Given the description of an element on the screen output the (x, y) to click on. 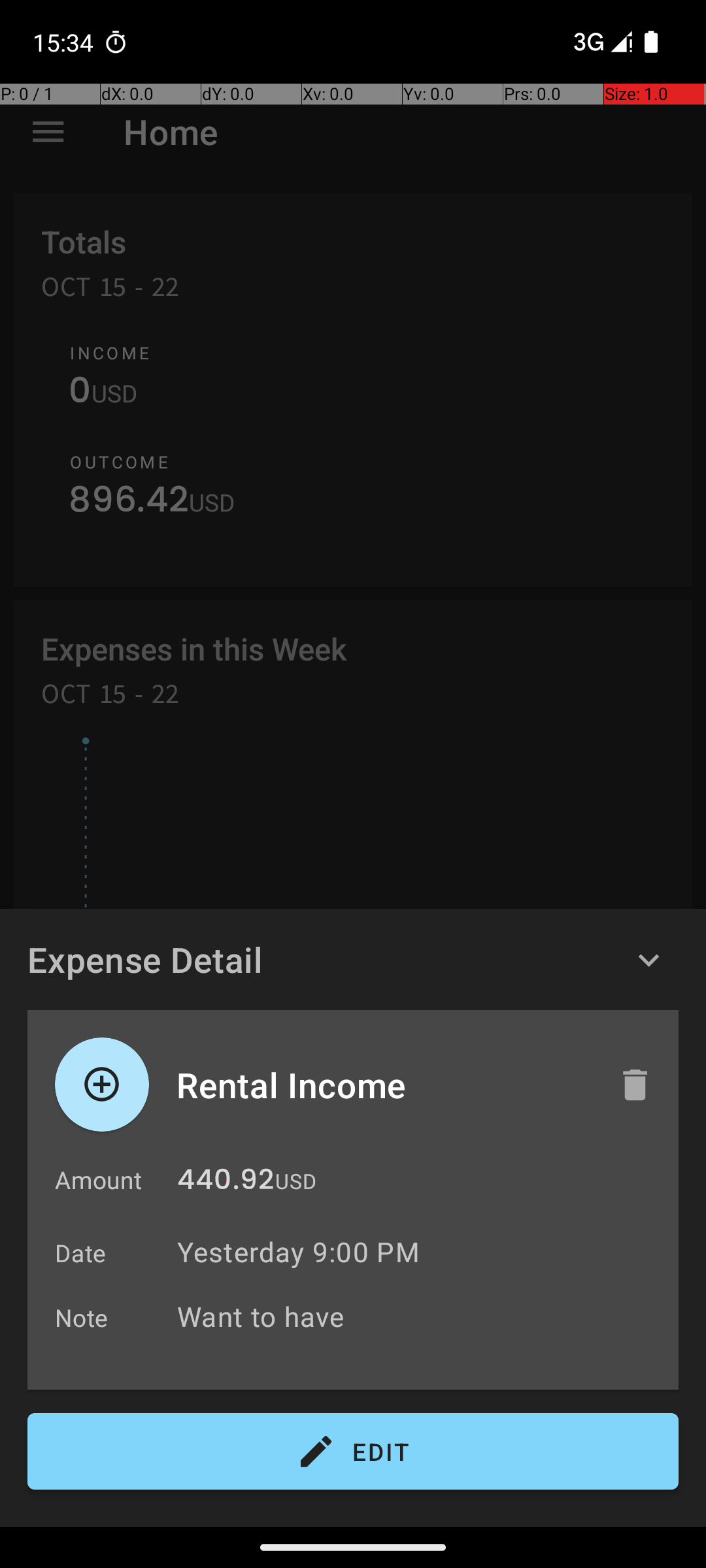
440.92 Element type: android.widget.TextView (225, 1182)
Yesterday 9:00 PM Element type: android.widget.TextView (298, 1251)
